Given the description of an element on the screen output the (x, y) to click on. 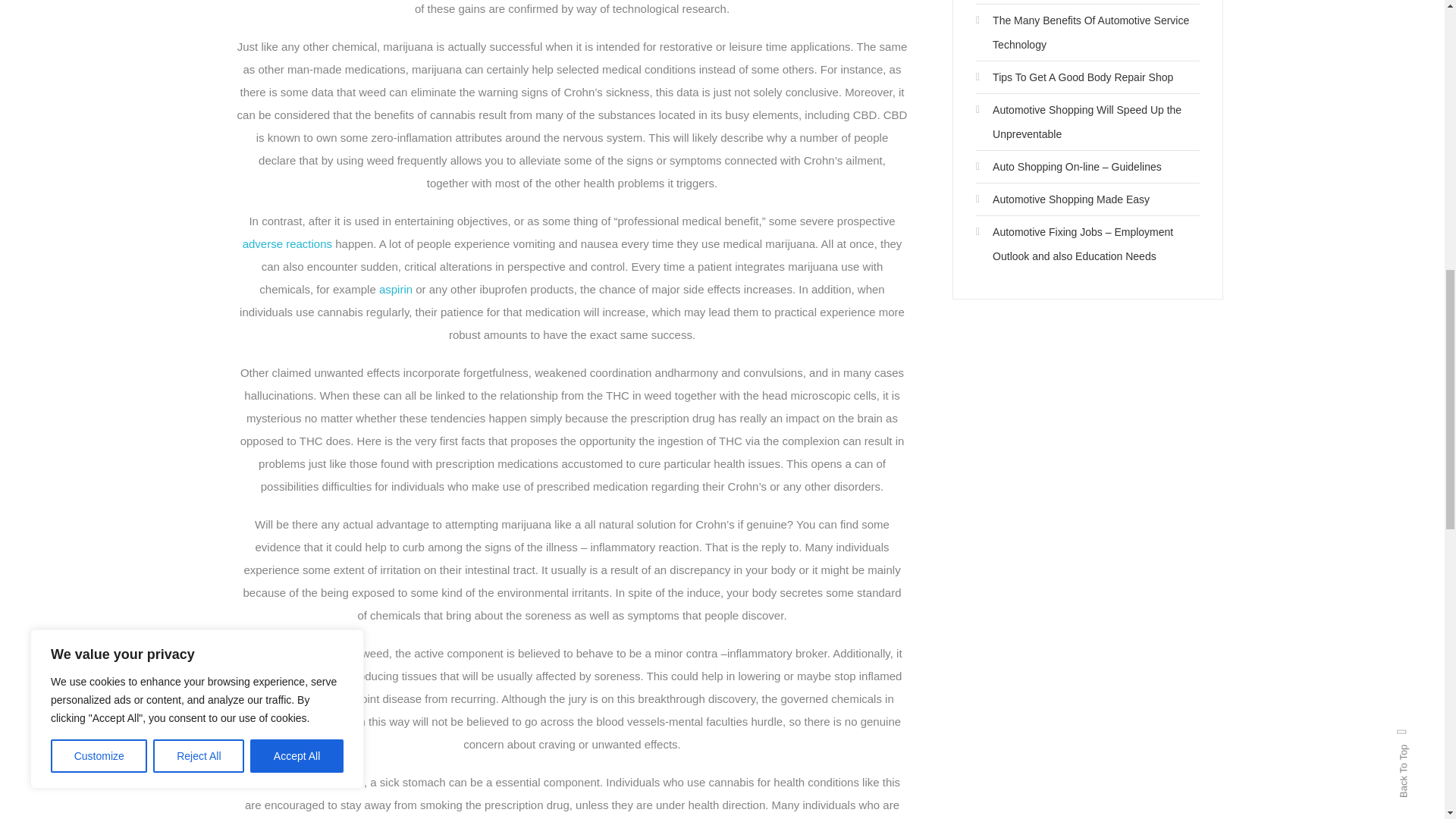
adverse reactions (287, 243)
aspirin (395, 288)
